Given the description of an element on the screen output the (x, y) to click on. 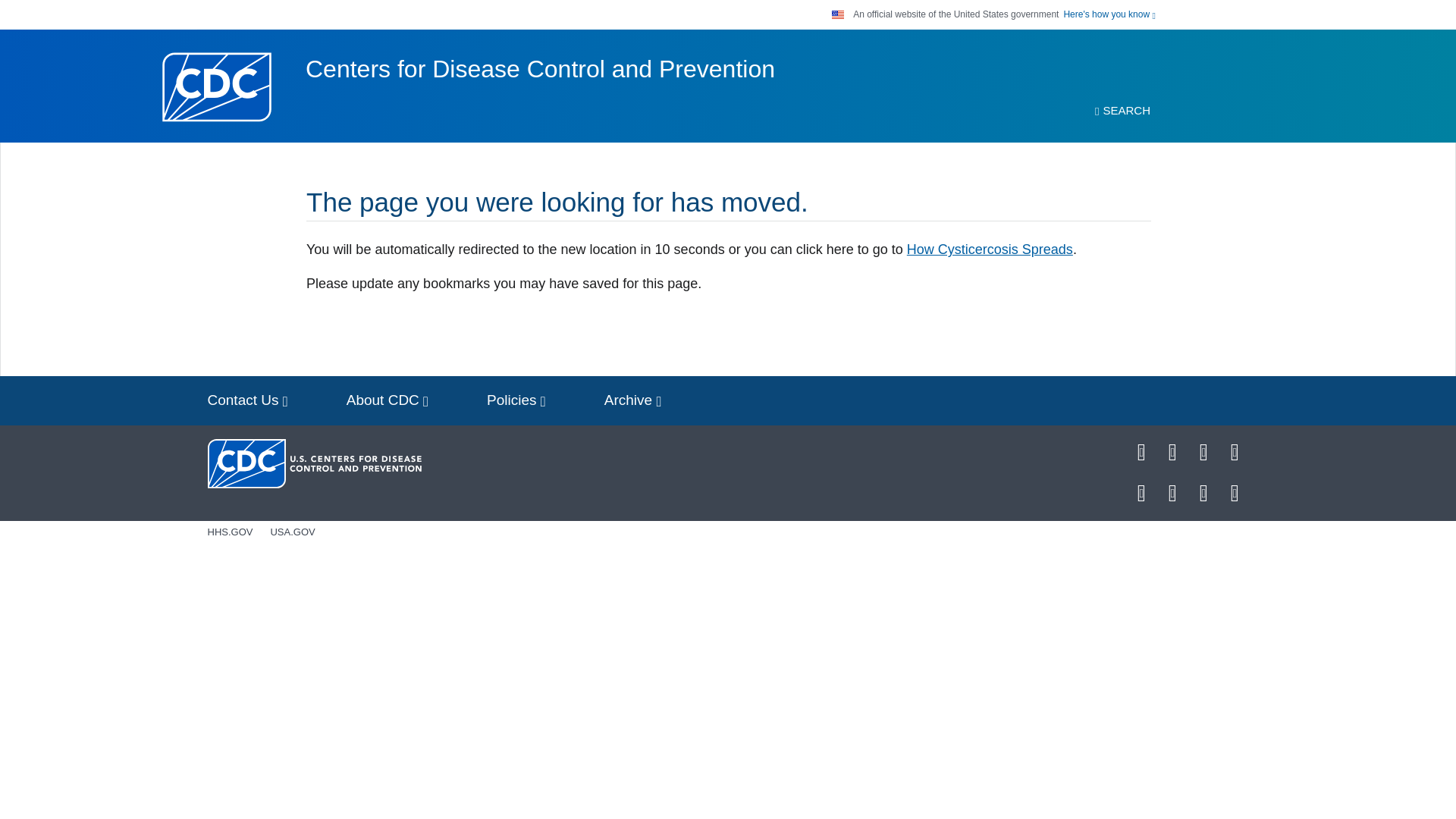
Archive (633, 400)
Here's how you know (1108, 14)
Contact Us (247, 400)
How Cysticercosis Spreads (990, 249)
Policies (516, 400)
About CDC (387, 400)
Centers for Disease Control and Prevention (539, 68)
SEARCH (1122, 110)
